Given the description of an element on the screen output the (x, y) to click on. 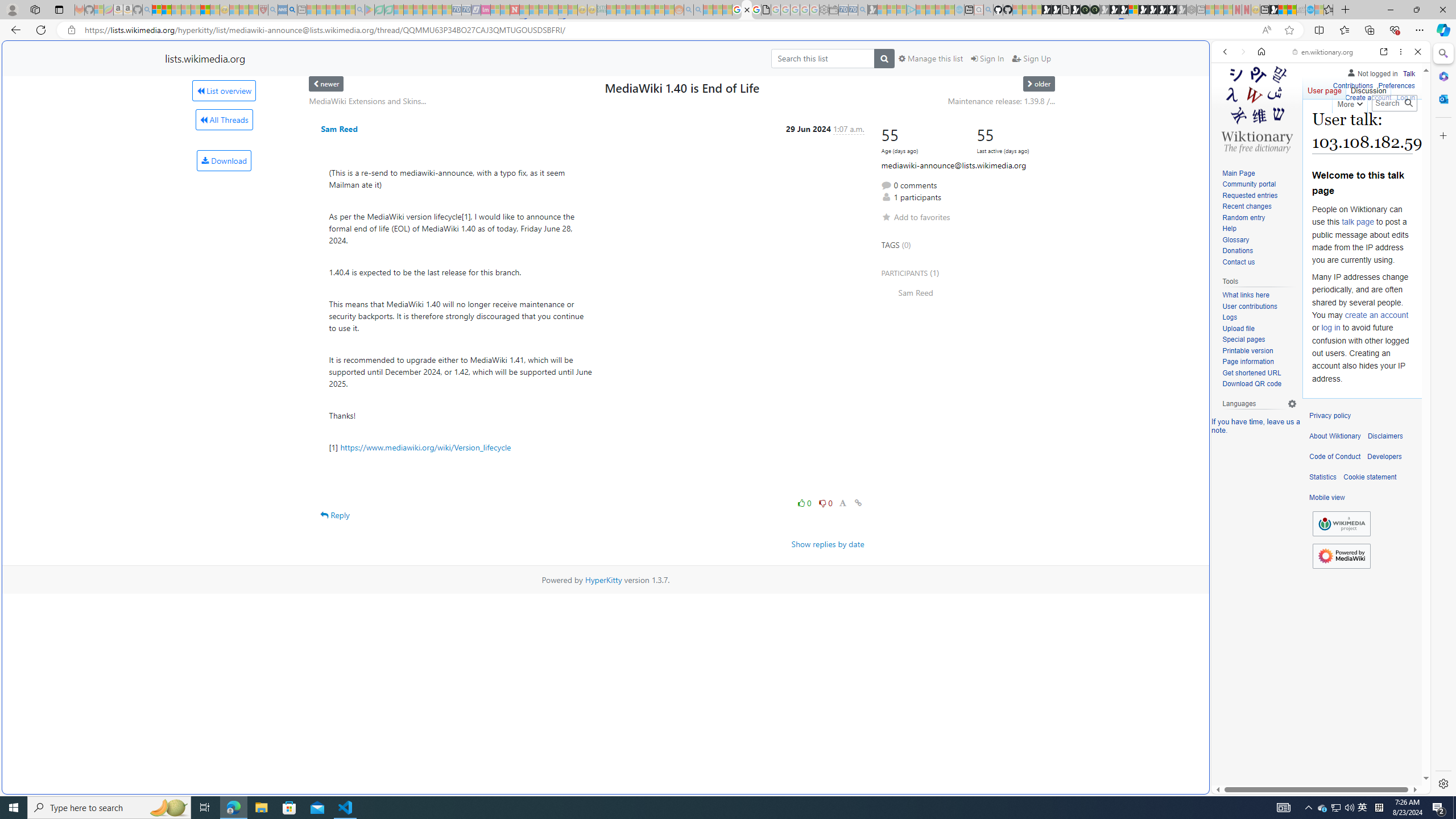
Contributions (1352, 84)
Settings - Sleeping (823, 9)
Disclaimers (1385, 436)
Powered by MediaWiki (1341, 556)
Terms of Use Agreement - Sleeping (378, 9)
MSN (1118, 536)
Get shortened URL (1251, 372)
